Given the description of an element on the screen output the (x, y) to click on. 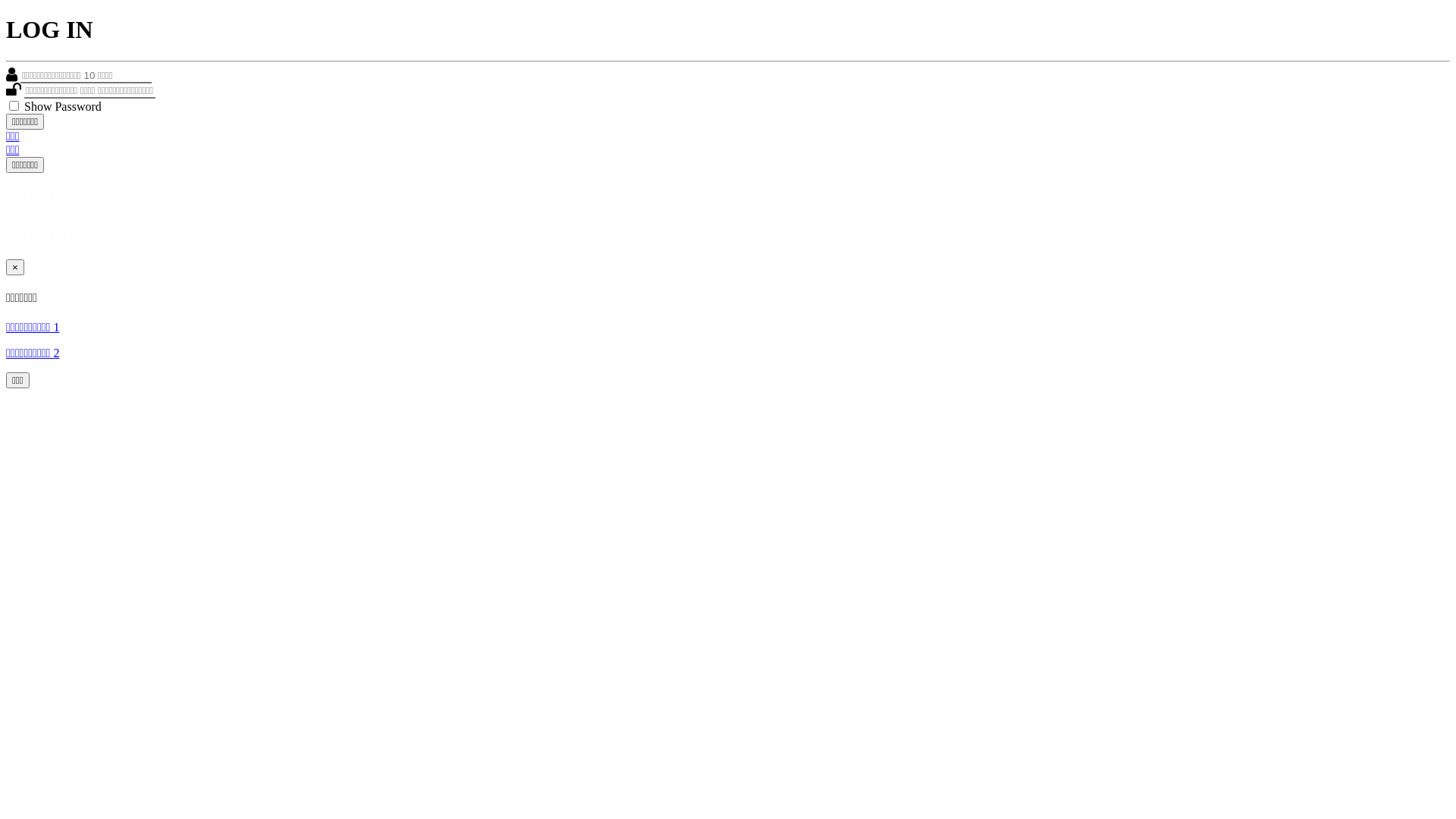
on Element type: text (13, 105)
